Given the description of an element on the screen output the (x, y) to click on. 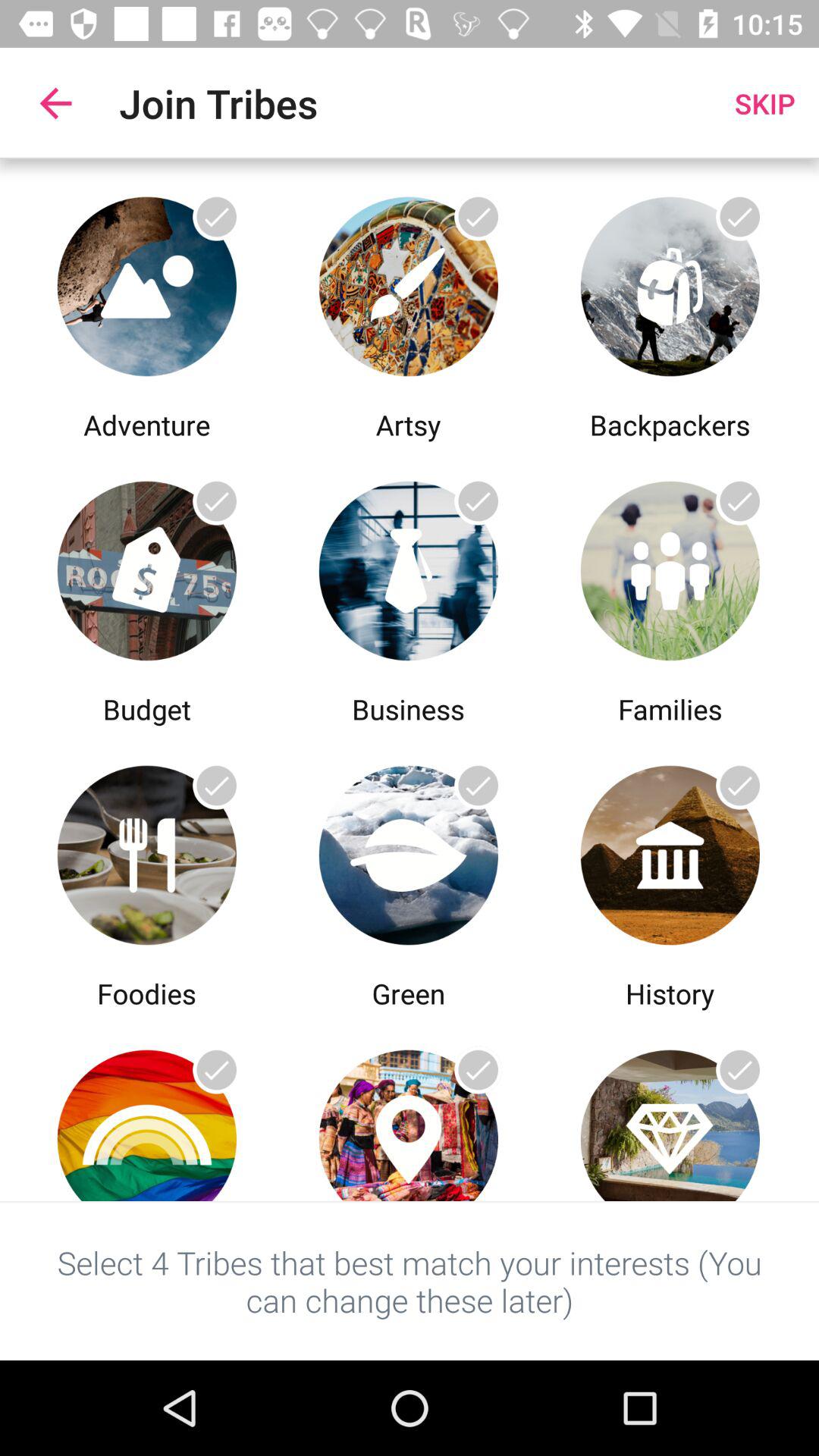
join the artsy tribe (408, 282)
